Given the description of an element on the screen output the (x, y) to click on. 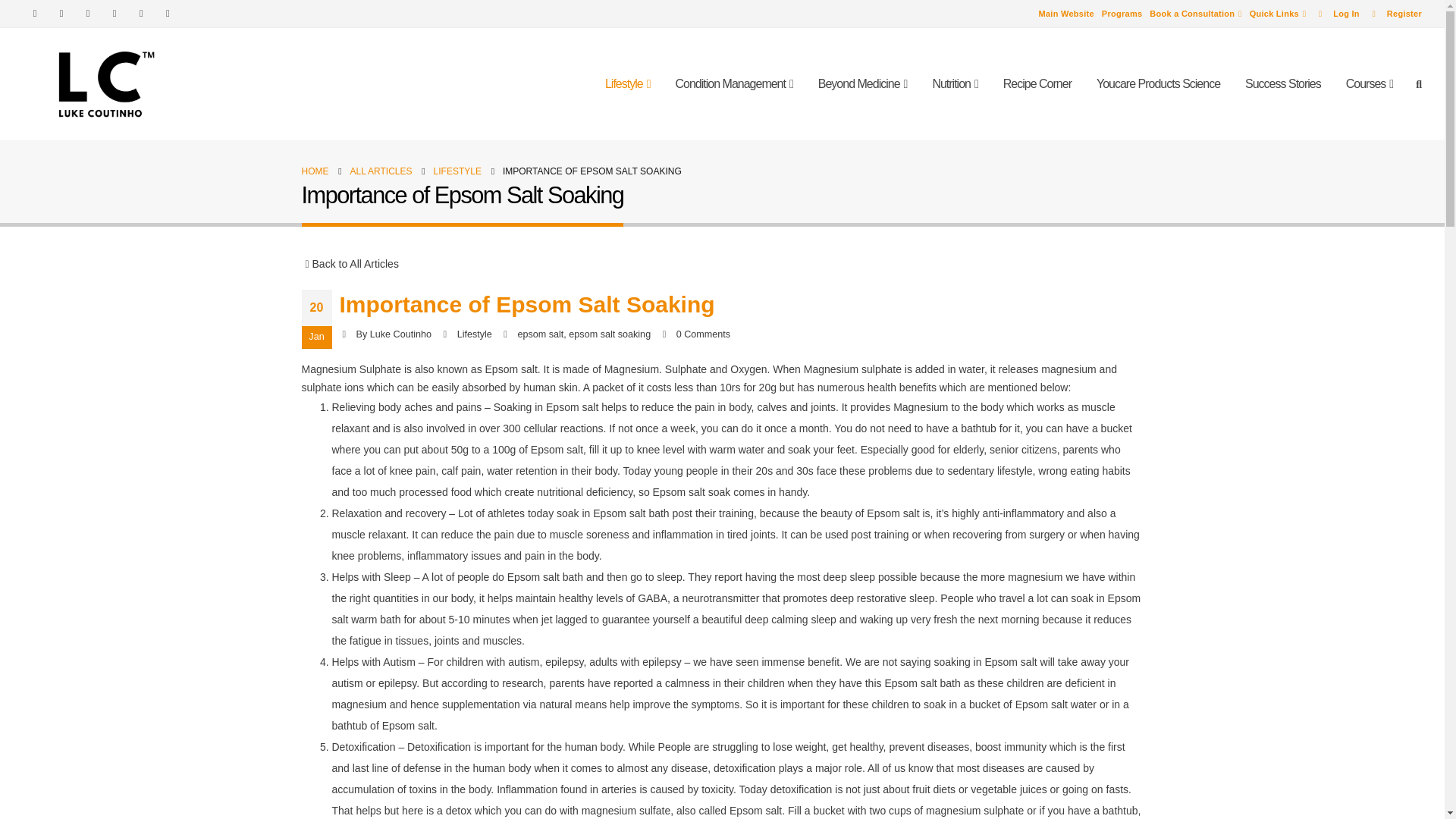
Beyond Medicine (863, 84)
Youtube (114, 13)
Main Website (1066, 13)
0 Comments (703, 334)
Book a Consultation (1194, 13)
Register (1392, 13)
Facebook (34, 13)
LinkedIn (167, 13)
Recipe Corner (1037, 84)
Posts by Luke Coutinho (399, 334)
